Given the description of an element on the screen output the (x, y) to click on. 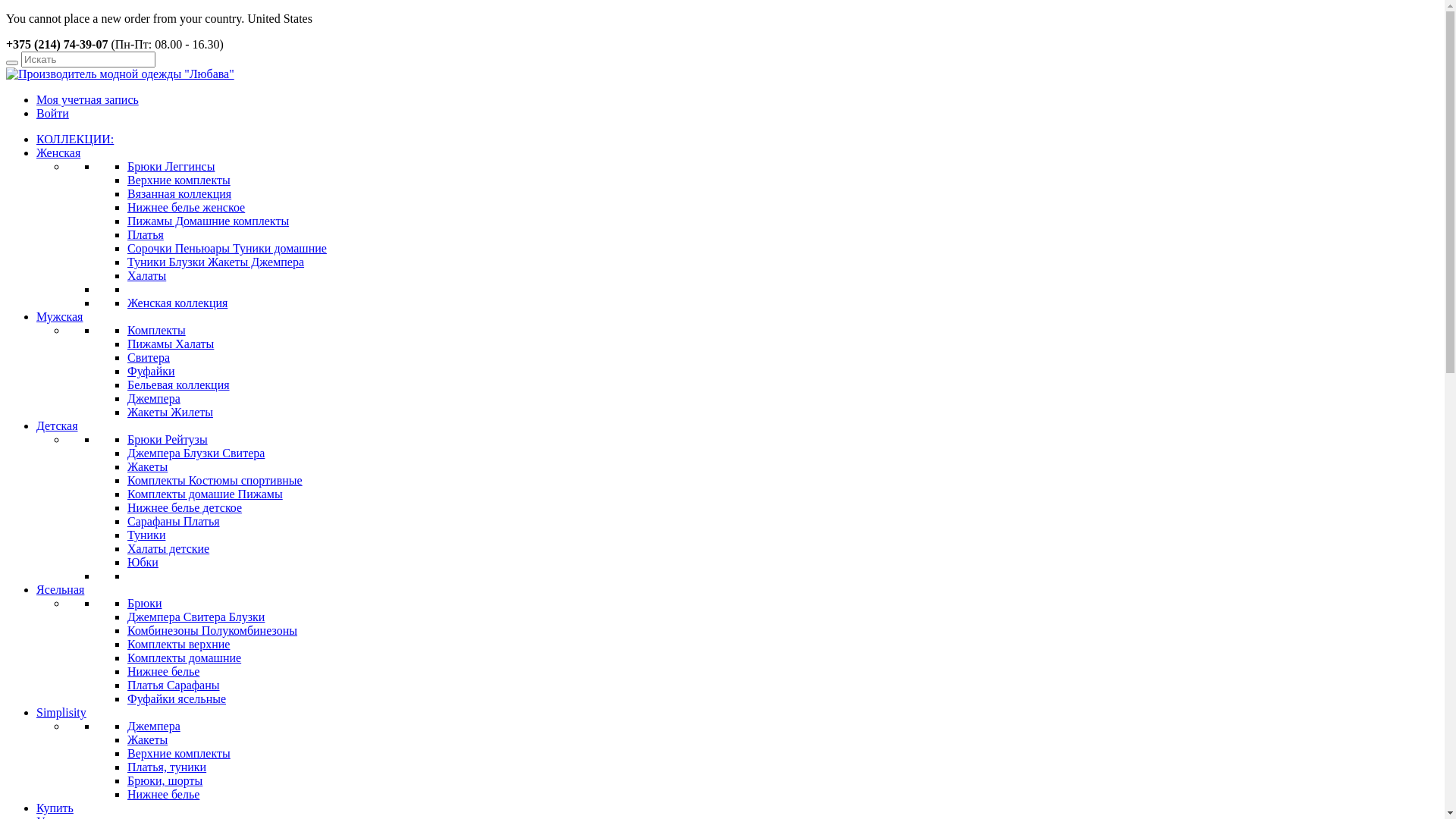
Simplisity Element type: text (61, 712)
